Given the description of an element on the screen output the (x, y) to click on. 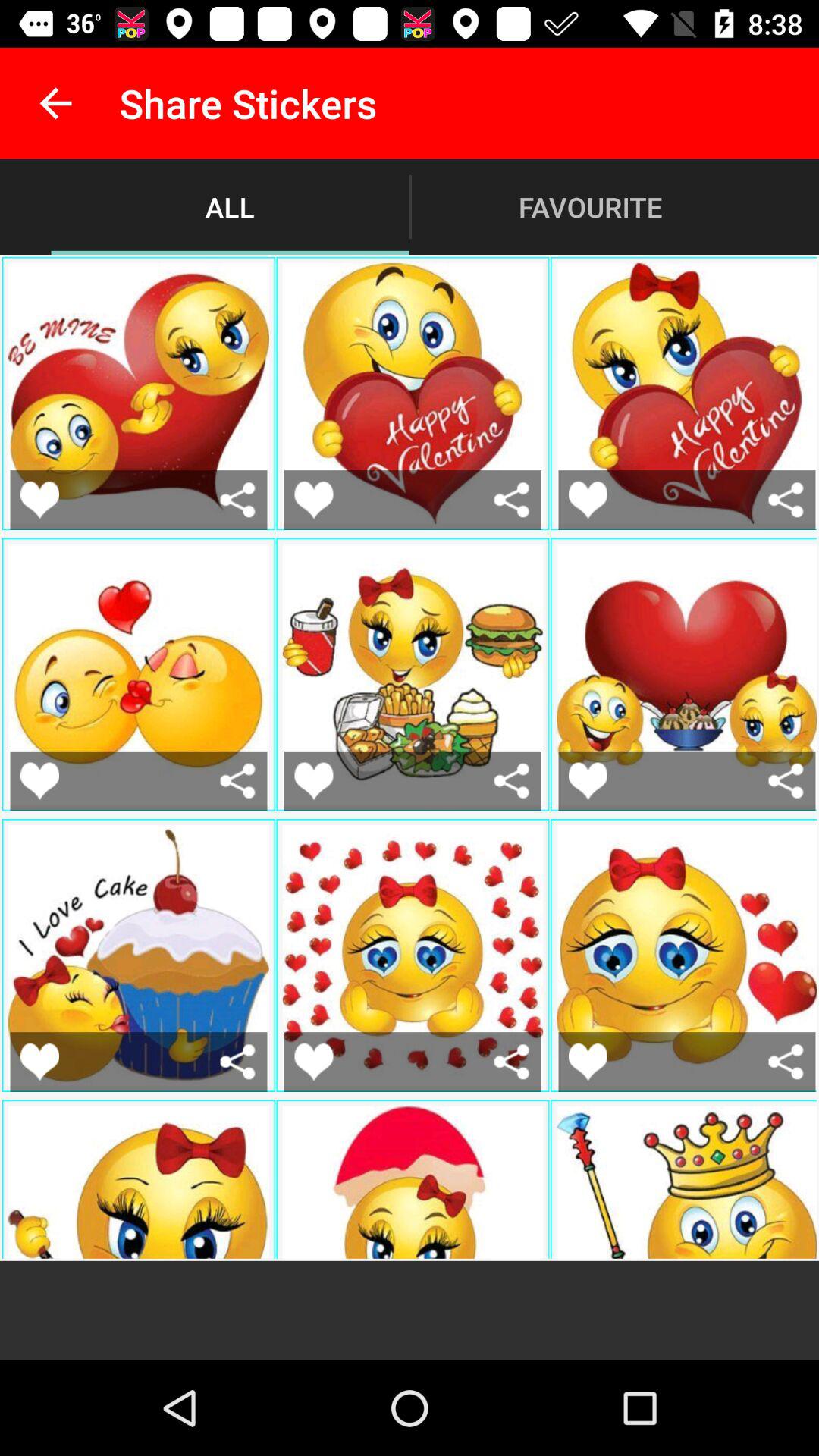
valentine 's day stickers (313, 1061)
